Given the description of an element on the screen output the (x, y) to click on. 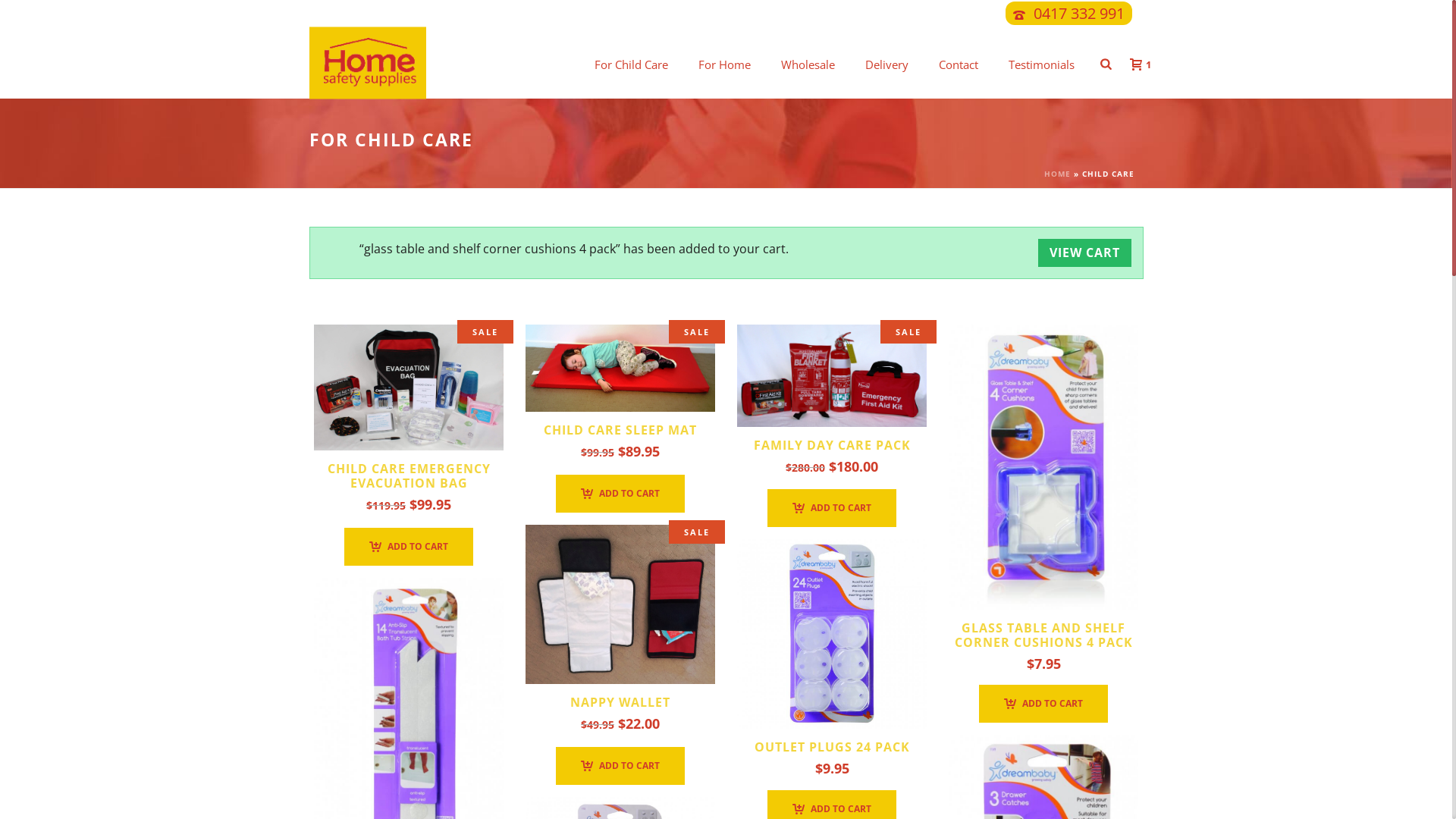
outlet plugs 24 pack Element type: hover (831, 633)
Nappy Wallet Element type: hover (620, 604)
Delivery Element type: text (886, 64)
VIEW CART Element type: text (1083, 252)
OUTLET PLUGS 24 PACK Element type: text (831, 746)
CHILD CARE SLEEP MAT Element type: text (619, 429)
Child Care Emergency Evacuation Bag Element type: hover (408, 387)
0417 332 991 Element type: text (1077, 13)
GLASS TABLE AND SHELF CORNER CUSHIONS 4 PACK Element type: text (1042, 634)
HOME Element type: text (1056, 173)
Testimonials Element type: text (1041, 64)
Child Care Sleep Mat Element type: hover (620, 368)
For Child Care Element type: text (631, 64)
Contact Element type: text (958, 64)
ADD TO CART Element type: text (831, 508)
FAMILY DAY CARE PACK Element type: text (831, 444)
ADD TO CART Element type: text (1043, 703)
ADD TO CART Element type: text (619, 765)
glass table and shelf corner cushions 4 pack Element type: hover (1043, 466)
1 Element type: text (1136, 63)
NAPPY WALLET Element type: text (620, 701)
ADD TO CART Element type: text (408, 546)
ADD TO CART Element type: text (619, 493)
CHILD CARE EMERGENCY EVACUATION BAG Element type: text (408, 475)
Wholesale Element type: text (807, 64)
For Home Element type: text (724, 64)
Family Day Care Pack Element type: hover (831, 375)
